Given the description of an element on the screen output the (x, y) to click on. 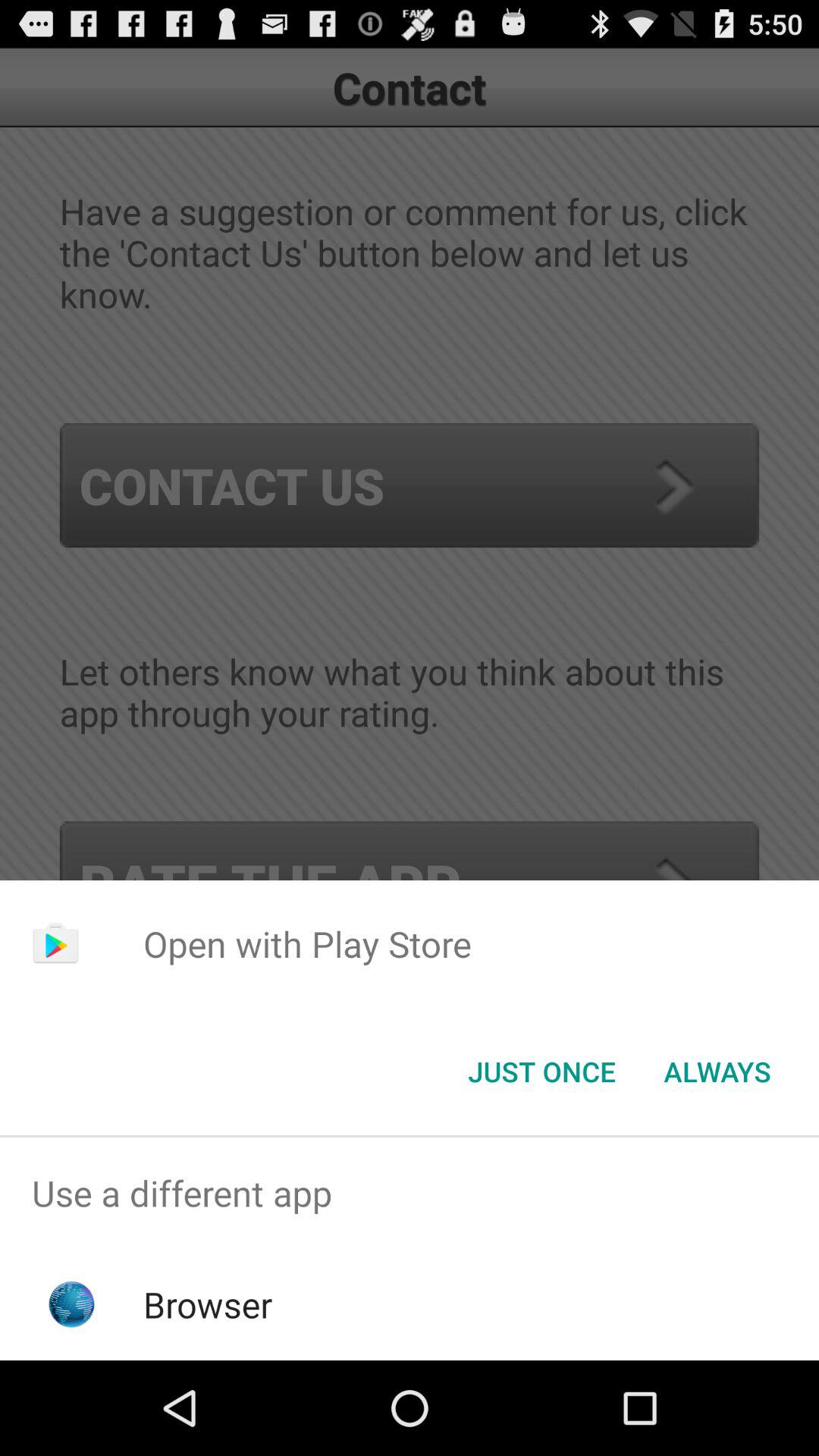
open icon below the open with play (717, 1071)
